Given the description of an element on the screen output the (x, y) to click on. 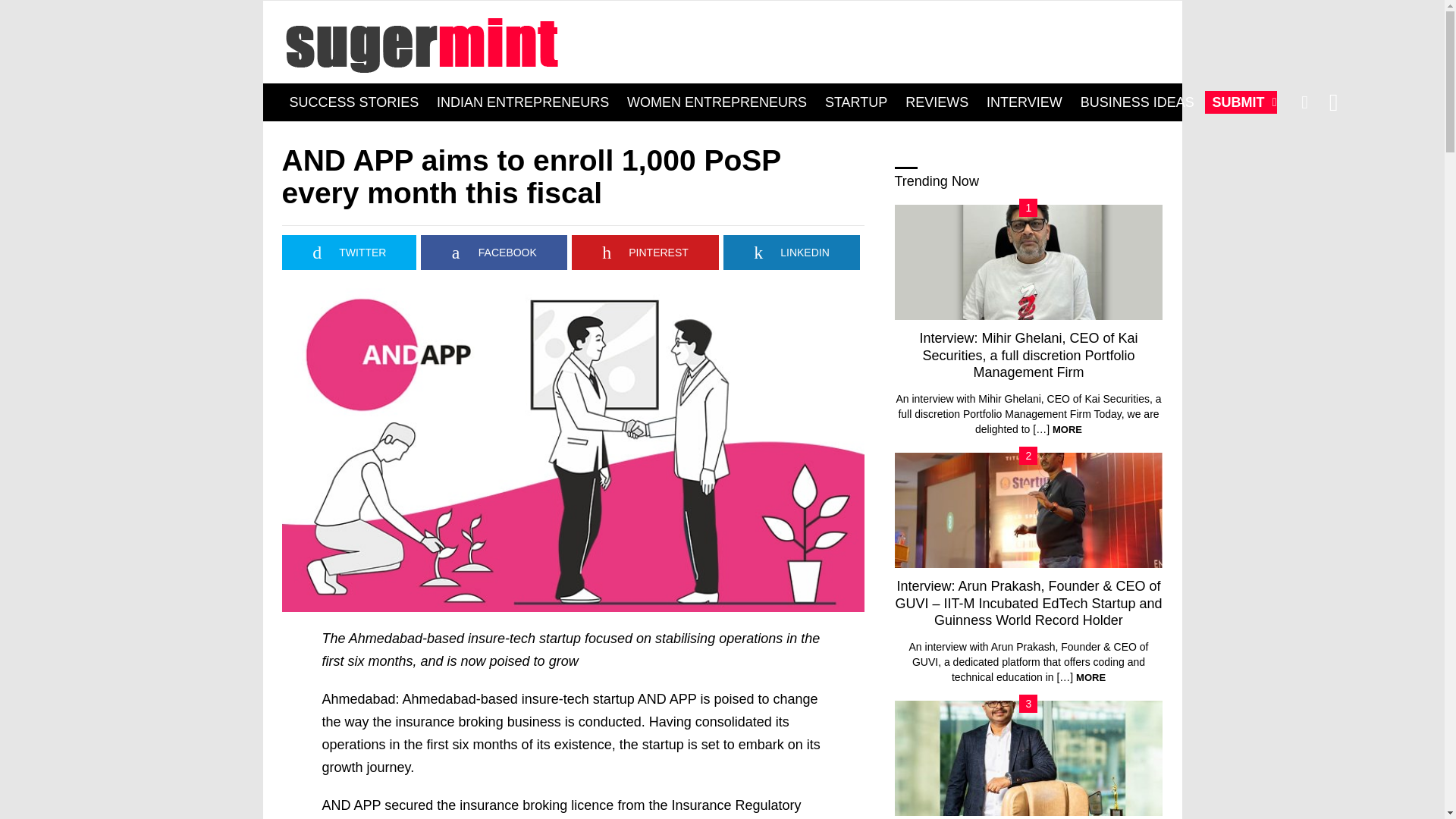
INDIAN ENTREPRENEURS (522, 101)
TWITTER (349, 252)
STARTUP (855, 101)
LINKEDIN (791, 252)
INTERVIEW (1024, 101)
SUBMIT (1240, 101)
BUSINESS IDEAS (1137, 101)
SUCCESS STORIES (354, 101)
REVIEWS (936, 101)
FACEBOOK (493, 252)
